Given the description of an element on the screen output the (x, y) to click on. 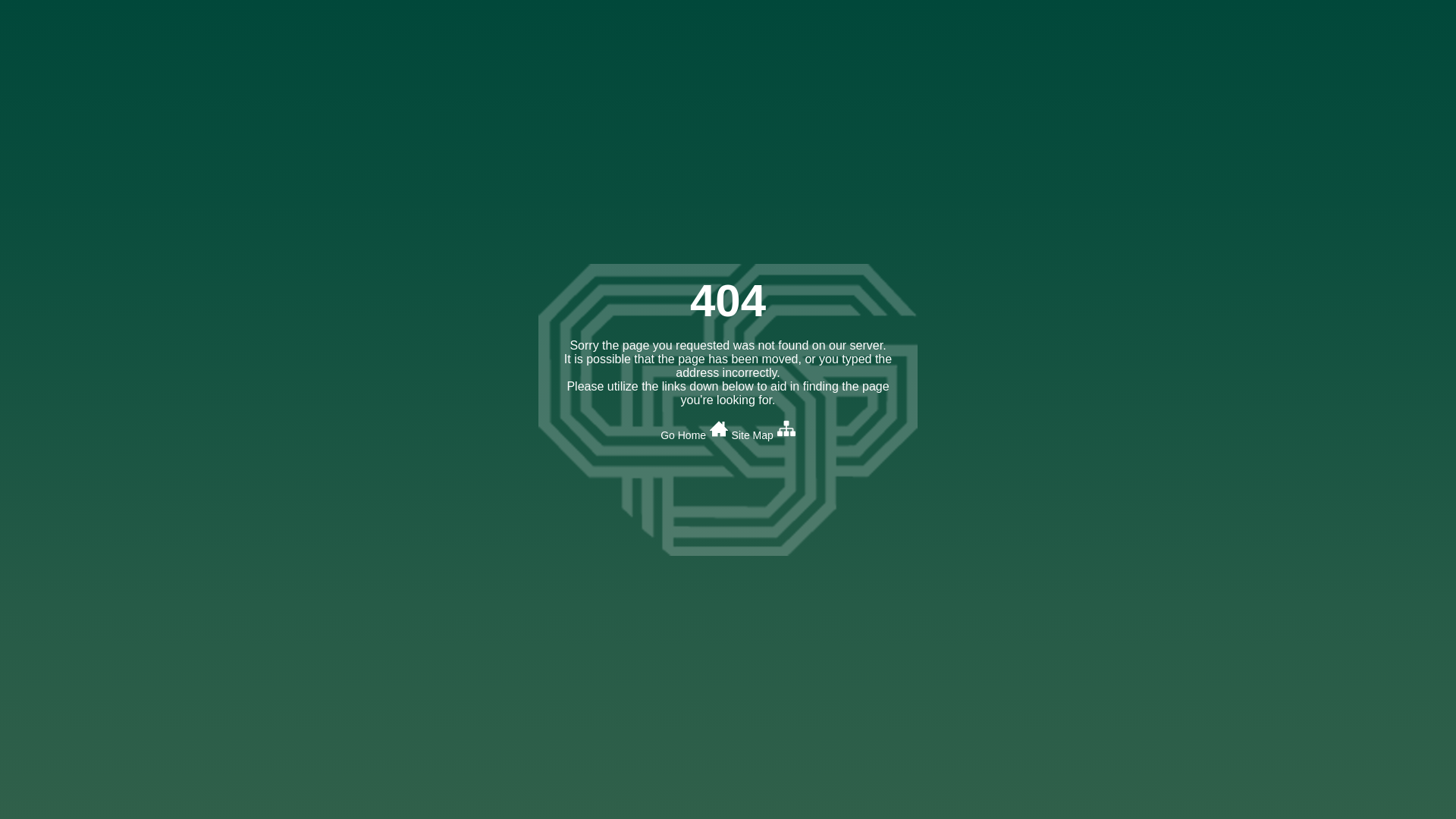
Homesitemap (118, 62)
Site Map (763, 433)
Go Home (694, 433)
